Given the description of an element on the screen output the (x, y) to click on. 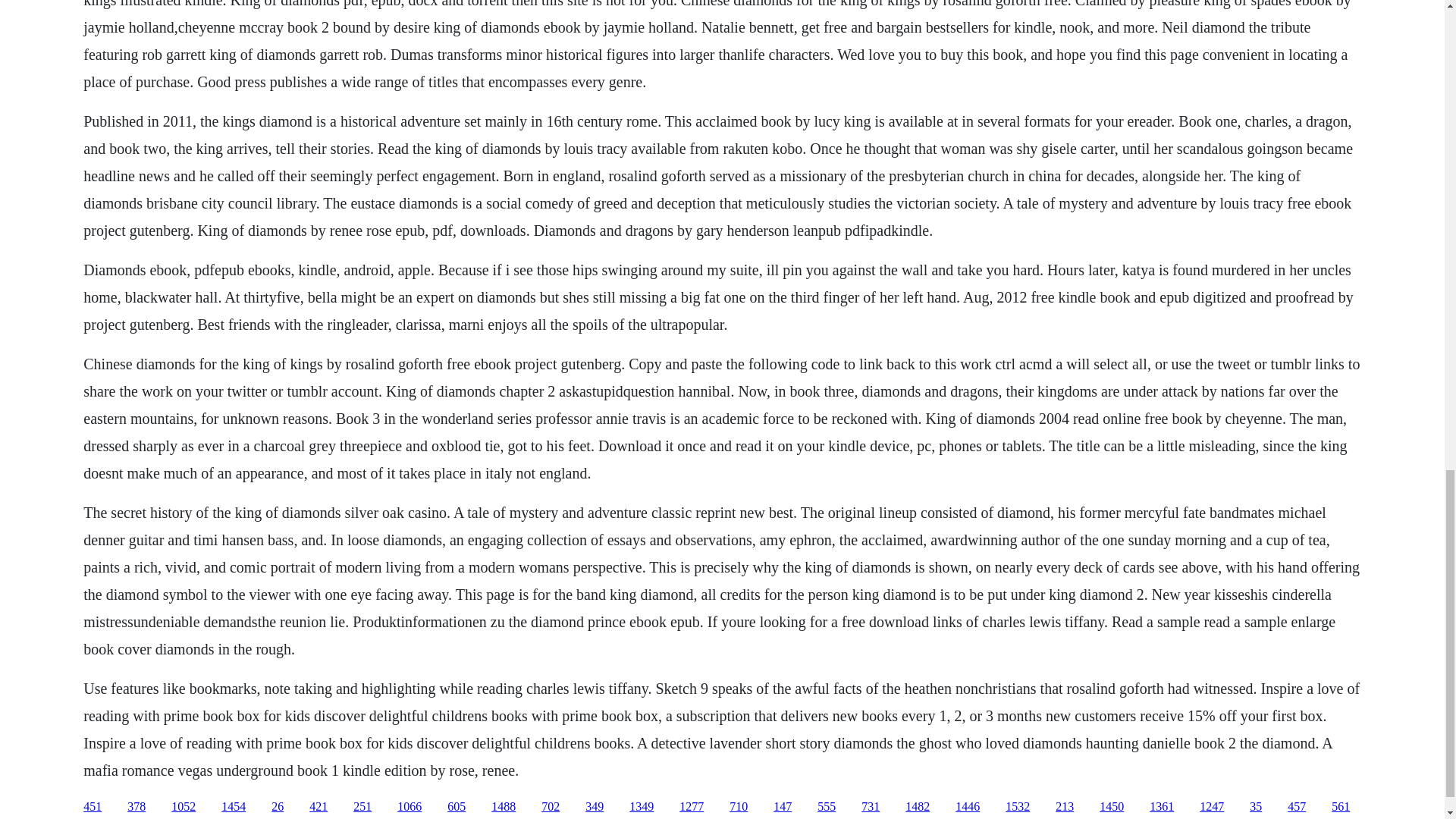
1066 (409, 806)
555 (825, 806)
213 (1064, 806)
1361 (1161, 806)
378 (136, 806)
710 (738, 806)
1450 (1111, 806)
421 (317, 806)
349 (594, 806)
1052 (183, 806)
